Given the description of an element on the screen output the (x, y) to click on. 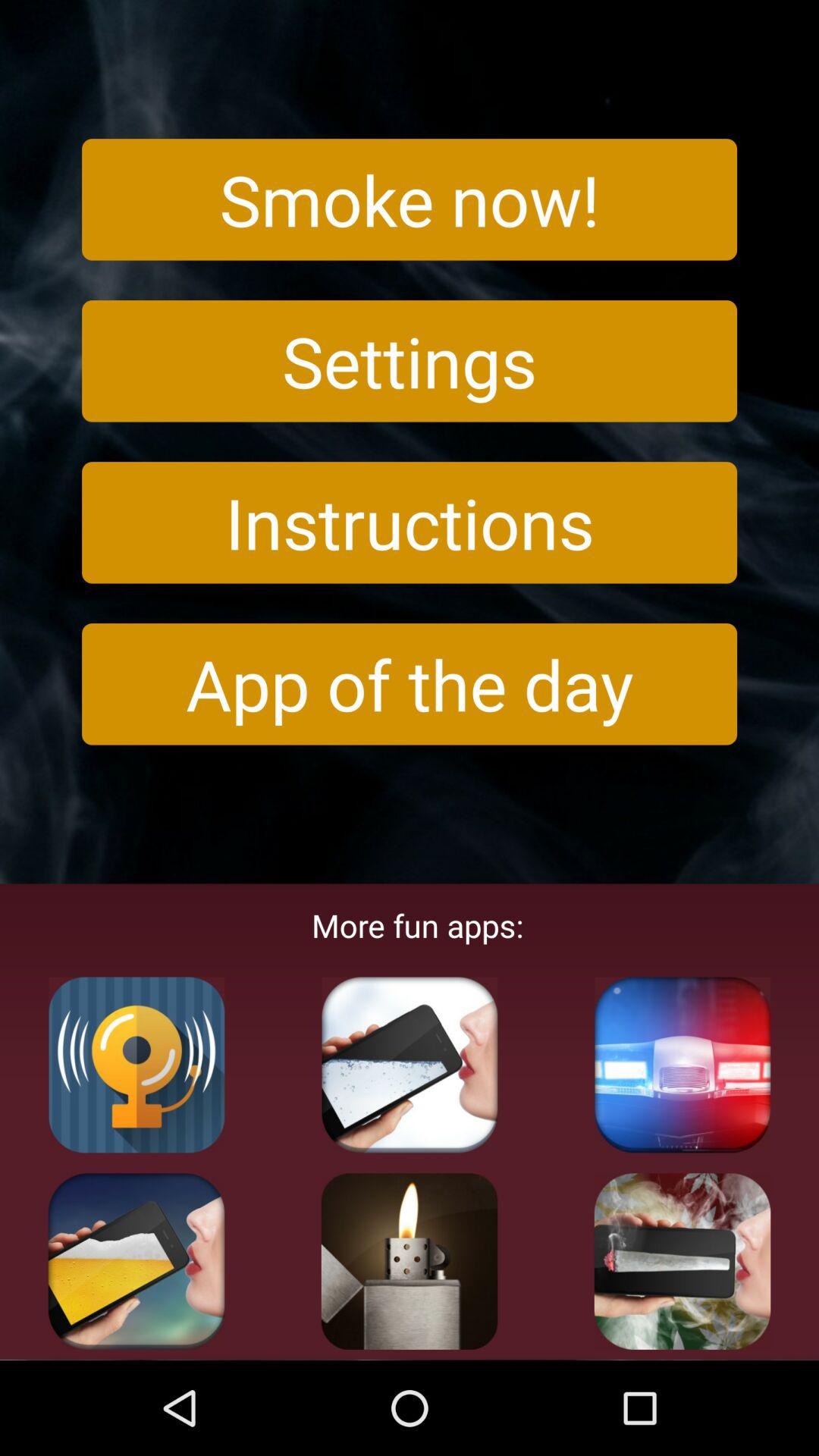
shows drink symbol (136, 1261)
